Given the description of an element on the screen output the (x, y) to click on. 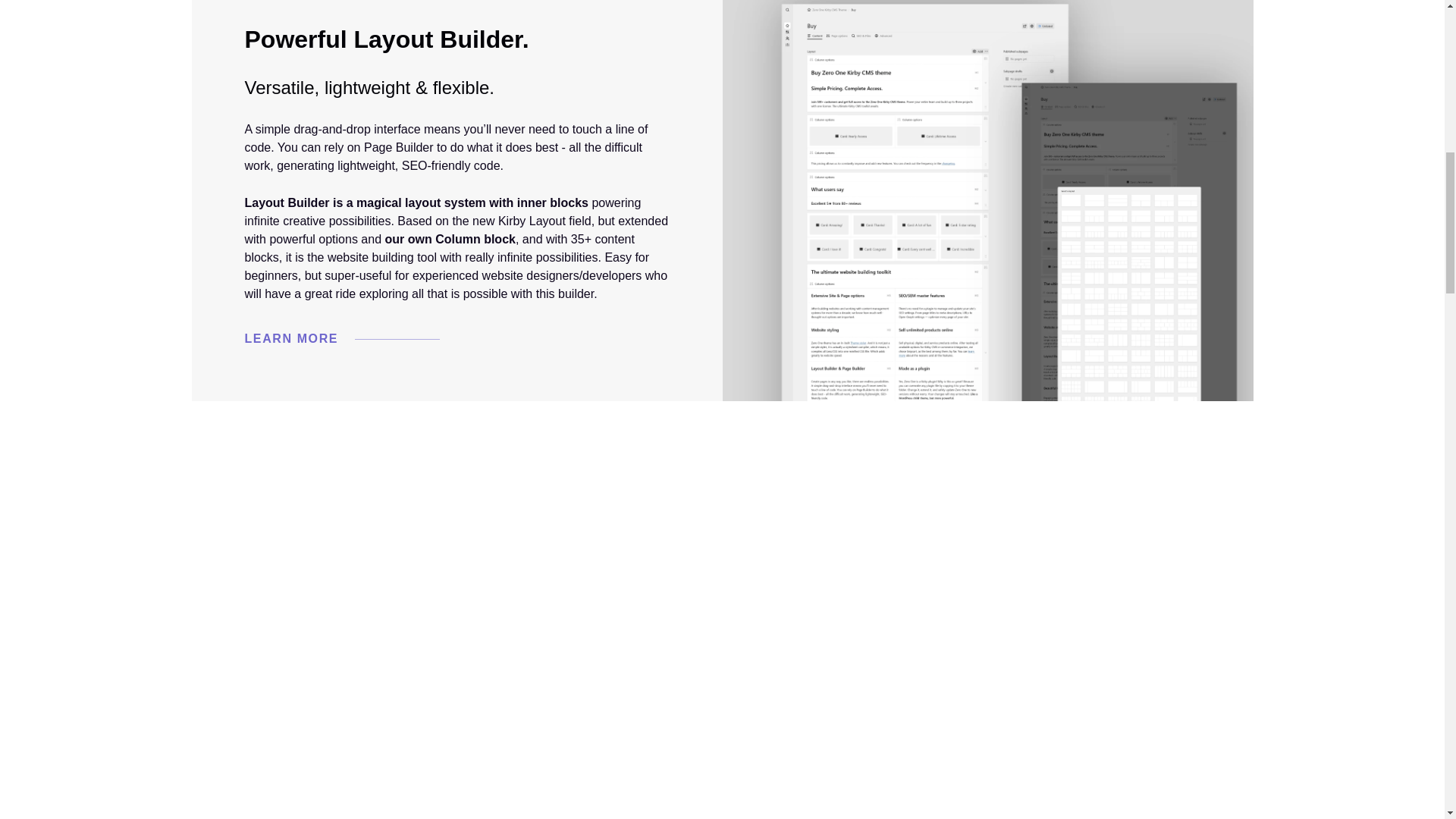
LEARN MORE (351, 339)
